Given the description of an element on the screen output the (x, y) to click on. 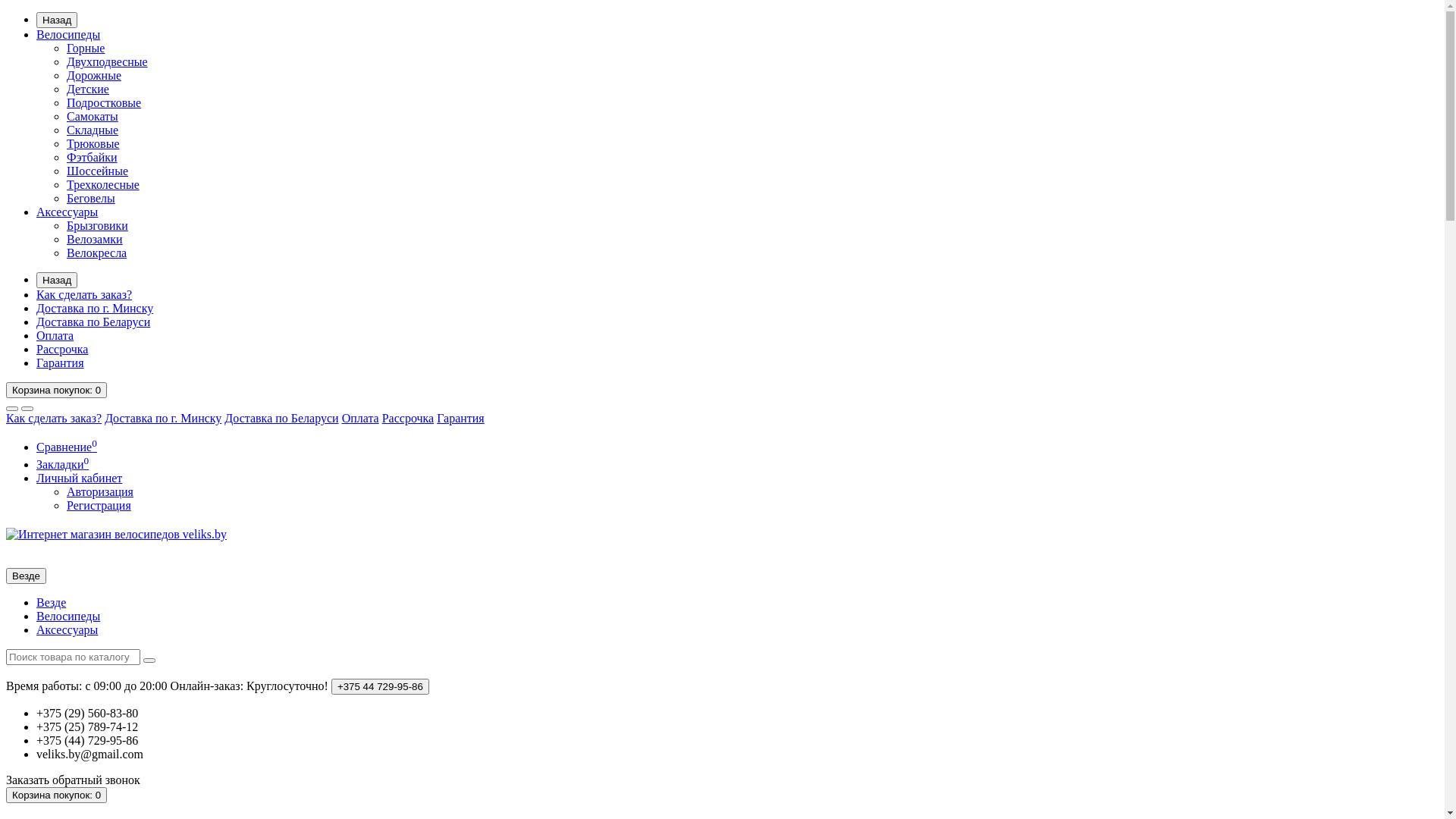
+375 44 729-95-86 Element type: text (380, 686)
